Given the description of an element on the screen output the (x, y) to click on. 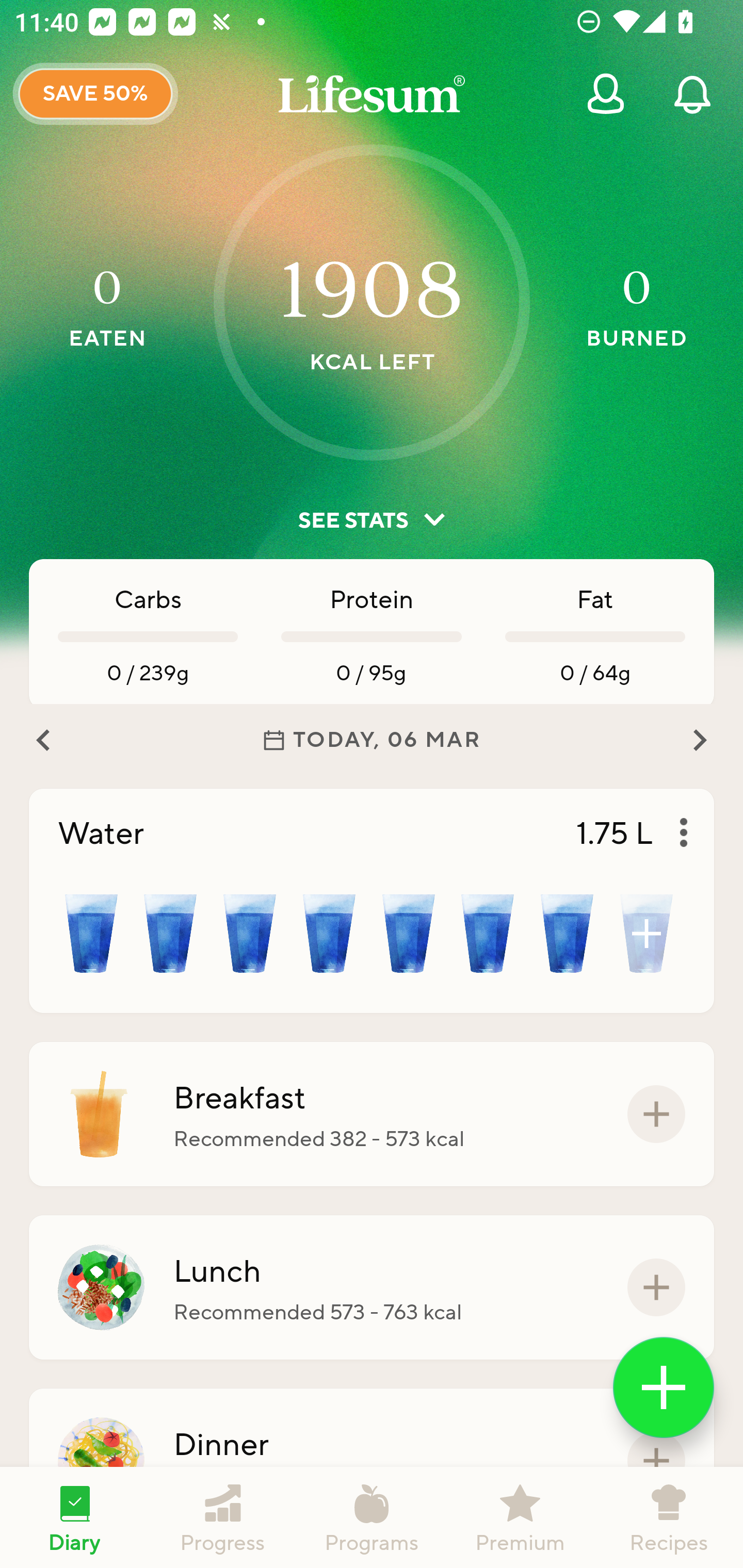
SEE STATS (371, 519)
TODAY, 06 MAR (371, 739)
Breakfast Recommended 382 - 573 kcal (371, 1113)
Lunch Recommended 573 - 763 kcal (371, 1287)
Dinner Recommended 573 - 763 kcal (371, 1461)
Progress (222, 1517)
Programs (371, 1517)
Premium (519, 1517)
Recipes (668, 1517)
